Given the description of an element on the screen output the (x, y) to click on. 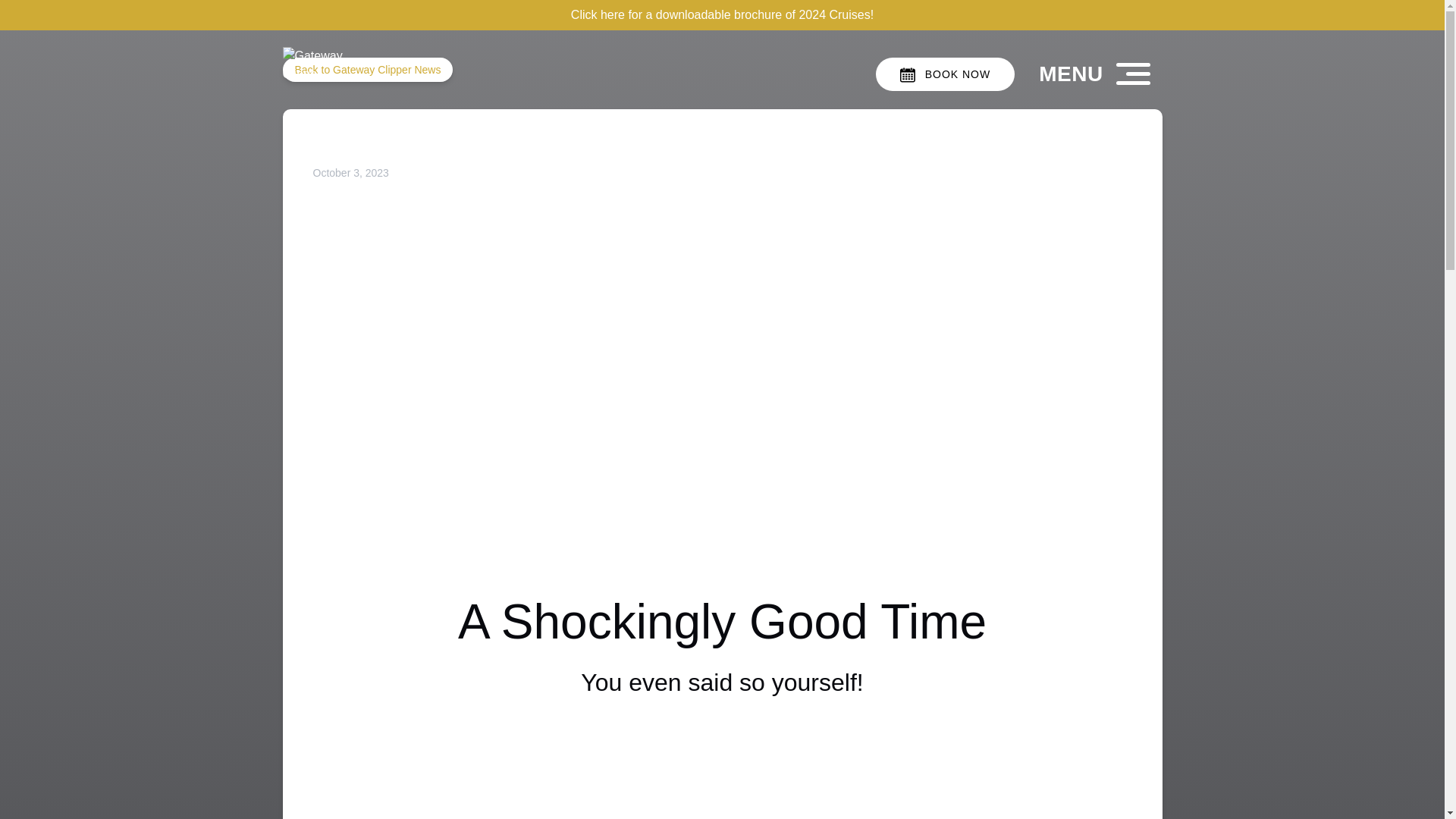
Skip to content (47, 16)
Skip to footer (42, 16)
CALENDAR (907, 74)
Skip to primary navigation (77, 16)
